Given the description of an element on the screen output the (x, y) to click on. 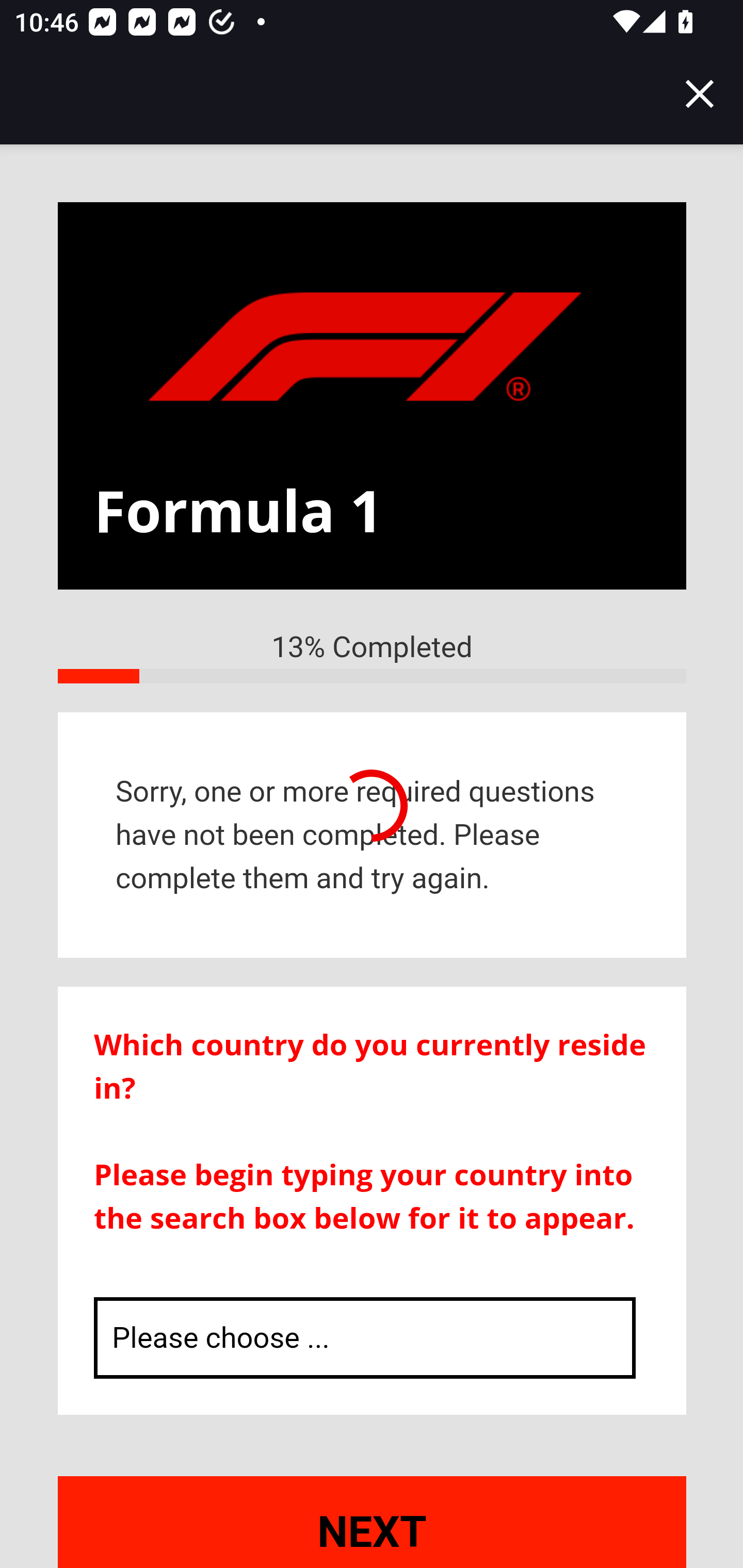
Close (699, 93)
Please choose ... (365, 1338)
NEXT (372, 1520)
